Given the description of an element on the screen output the (x, y) to click on. 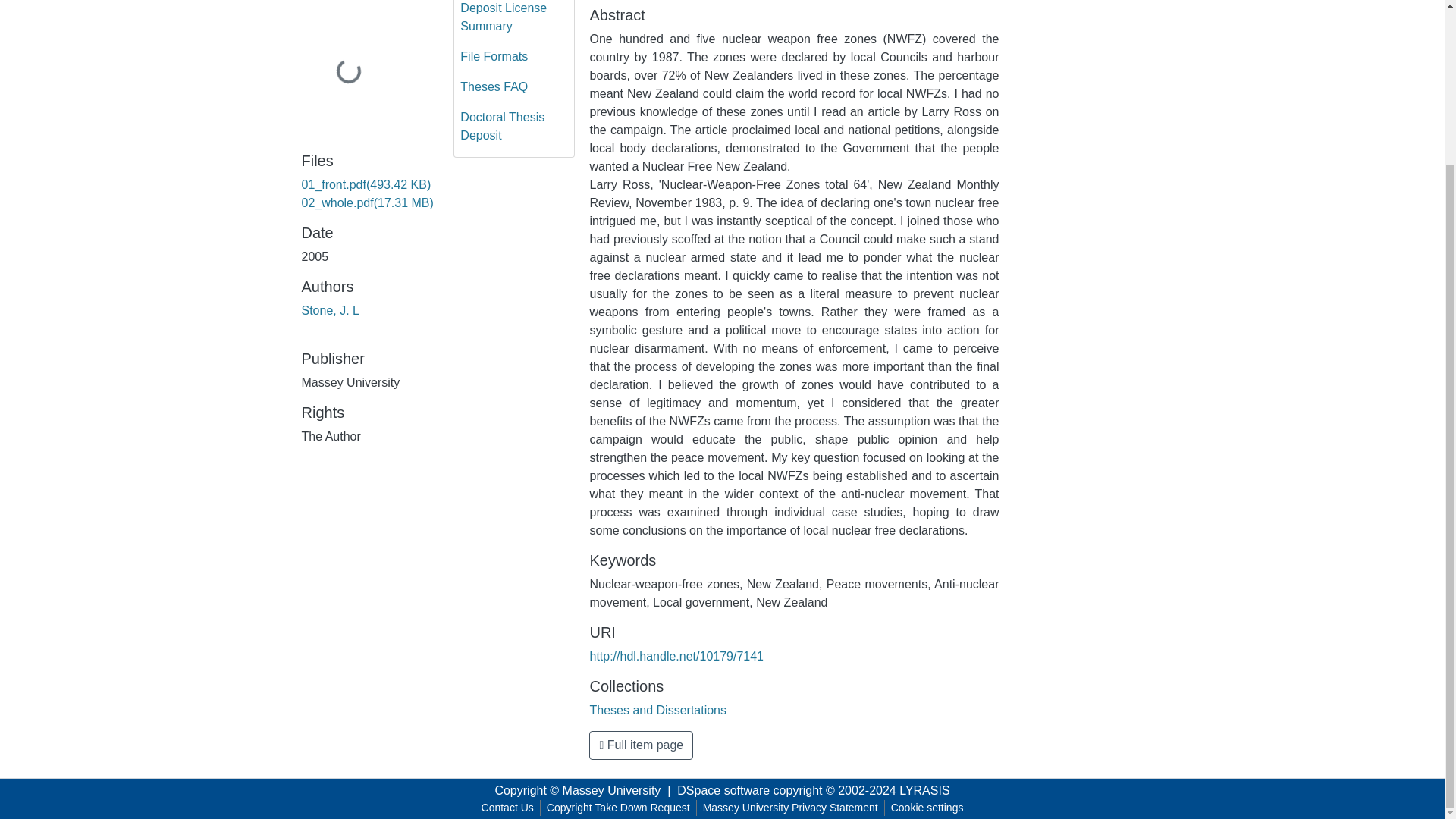
Full item page (641, 745)
DSpace software (723, 789)
Stone, J. L (330, 309)
Contact Us (508, 807)
Theses and Dissertations (657, 709)
Doctoral Thesis Deposit (513, 126)
File Formats (513, 56)
Theses FAQ (513, 87)
Deposit License Summary (513, 20)
LYRASIS (924, 789)
